Given the description of an element on the screen output the (x, y) to click on. 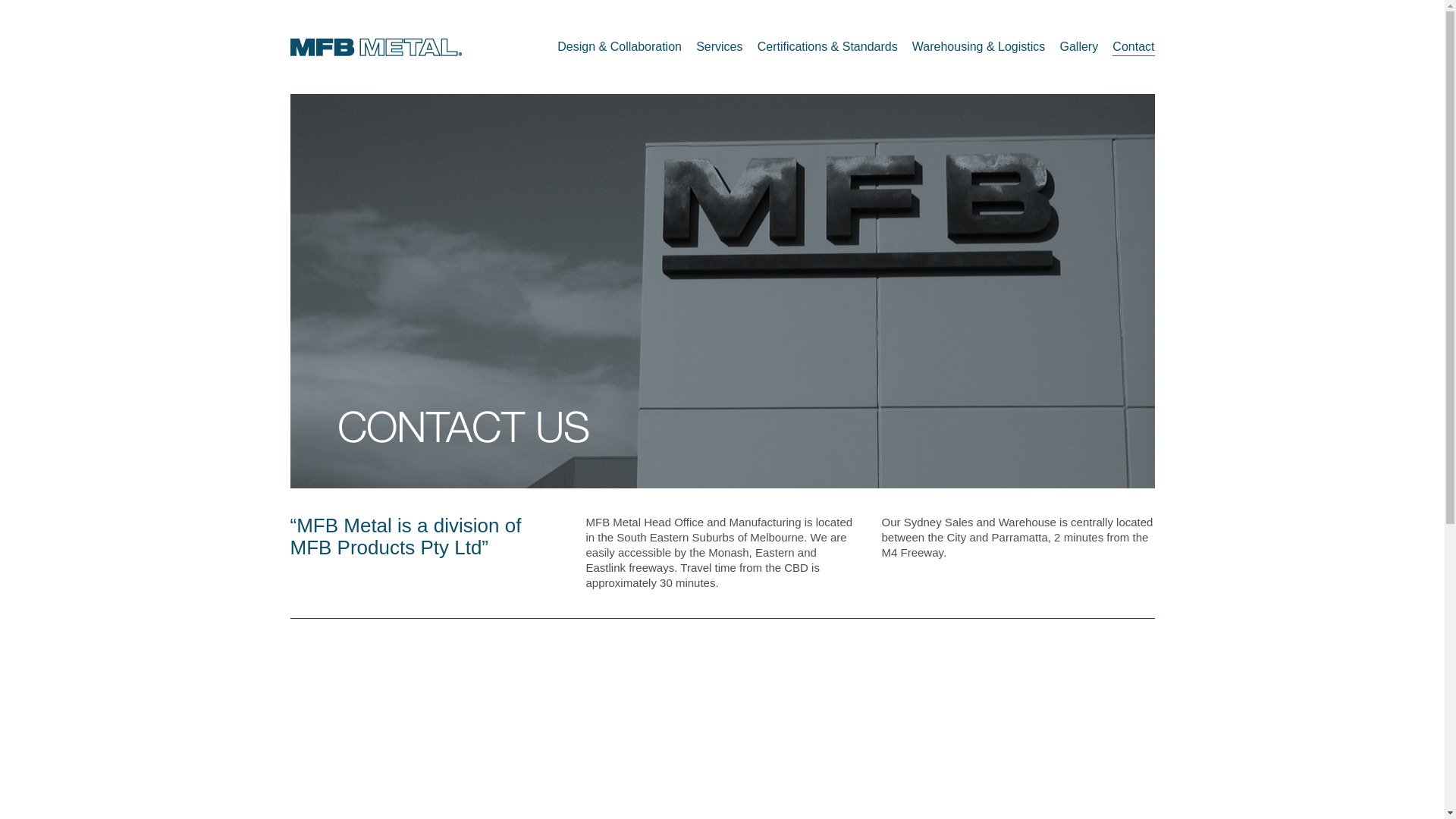
Contact Element type: text (1133, 46)
Design & Collaboration Element type: text (619, 46)
Gallery Element type: text (1079, 46)
Services Element type: text (719, 46)
Certifications & Standards Element type: text (827, 46)
Warehousing & Logistics Element type: text (978, 46)
